Given the description of an element on the screen output the (x, y) to click on. 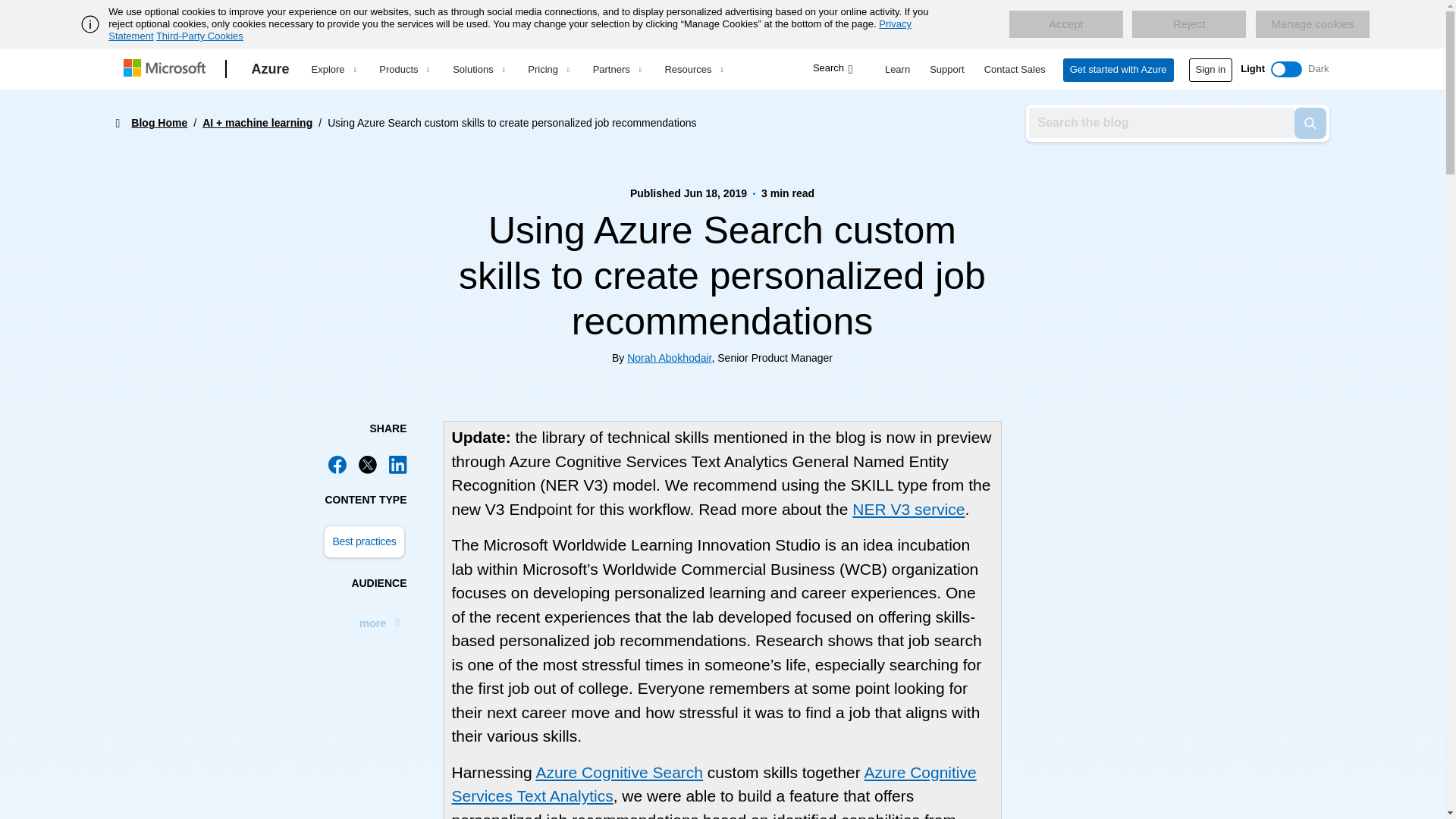
Microsoft (167, 69)
Accept (1065, 23)
Privacy Statement (509, 29)
Products (403, 69)
Explore (333, 69)
Third-Party Cookies (199, 35)
Manage cookies (1312, 23)
Reject (1189, 23)
Azure (270, 69)
